Given the description of an element on the screen output the (x, y) to click on. 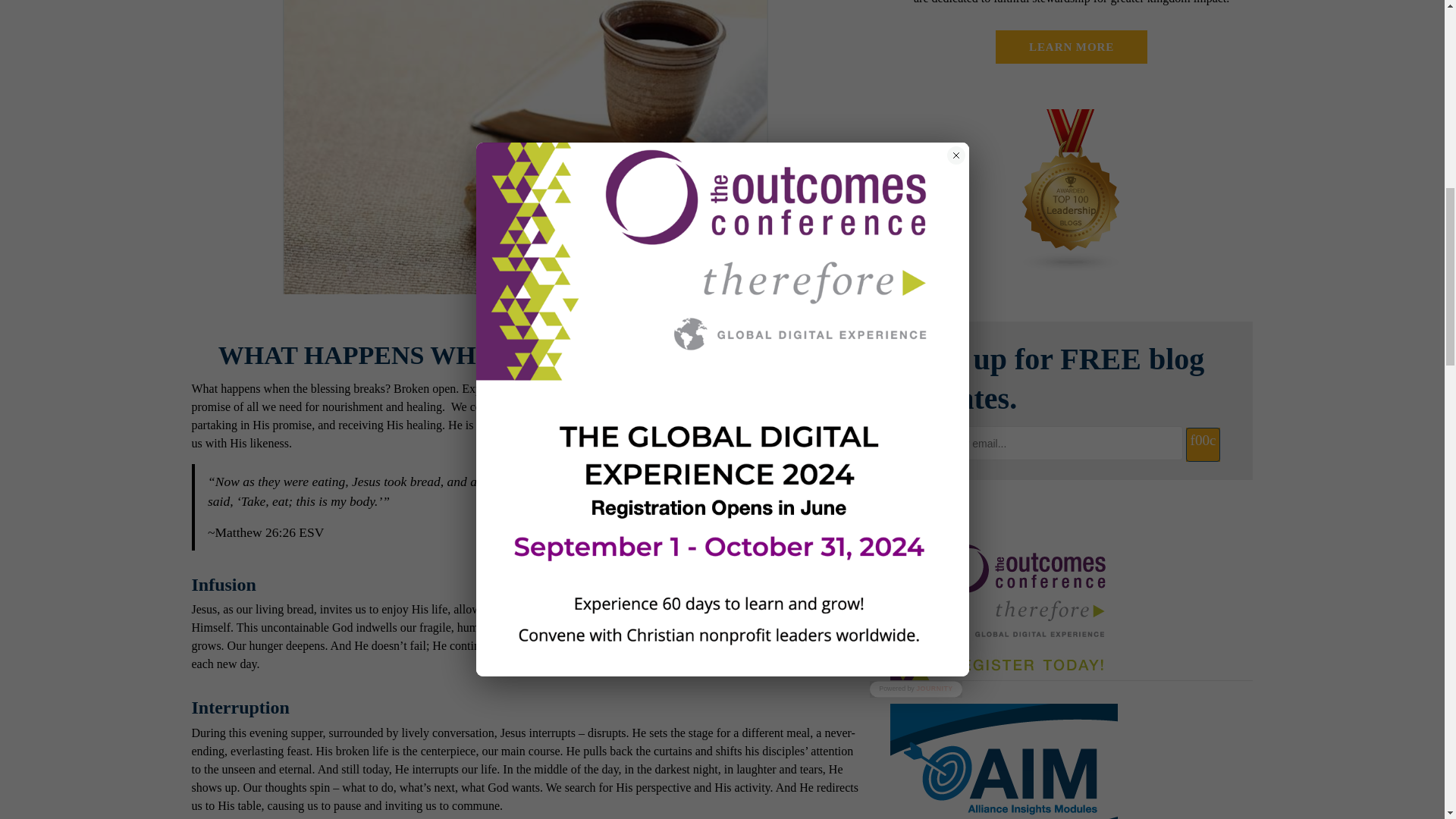
Enter your email... (1045, 442)
top-100-leadership-badge-1 (1071, 190)
